Given the description of an element on the screen output the (x, y) to click on. 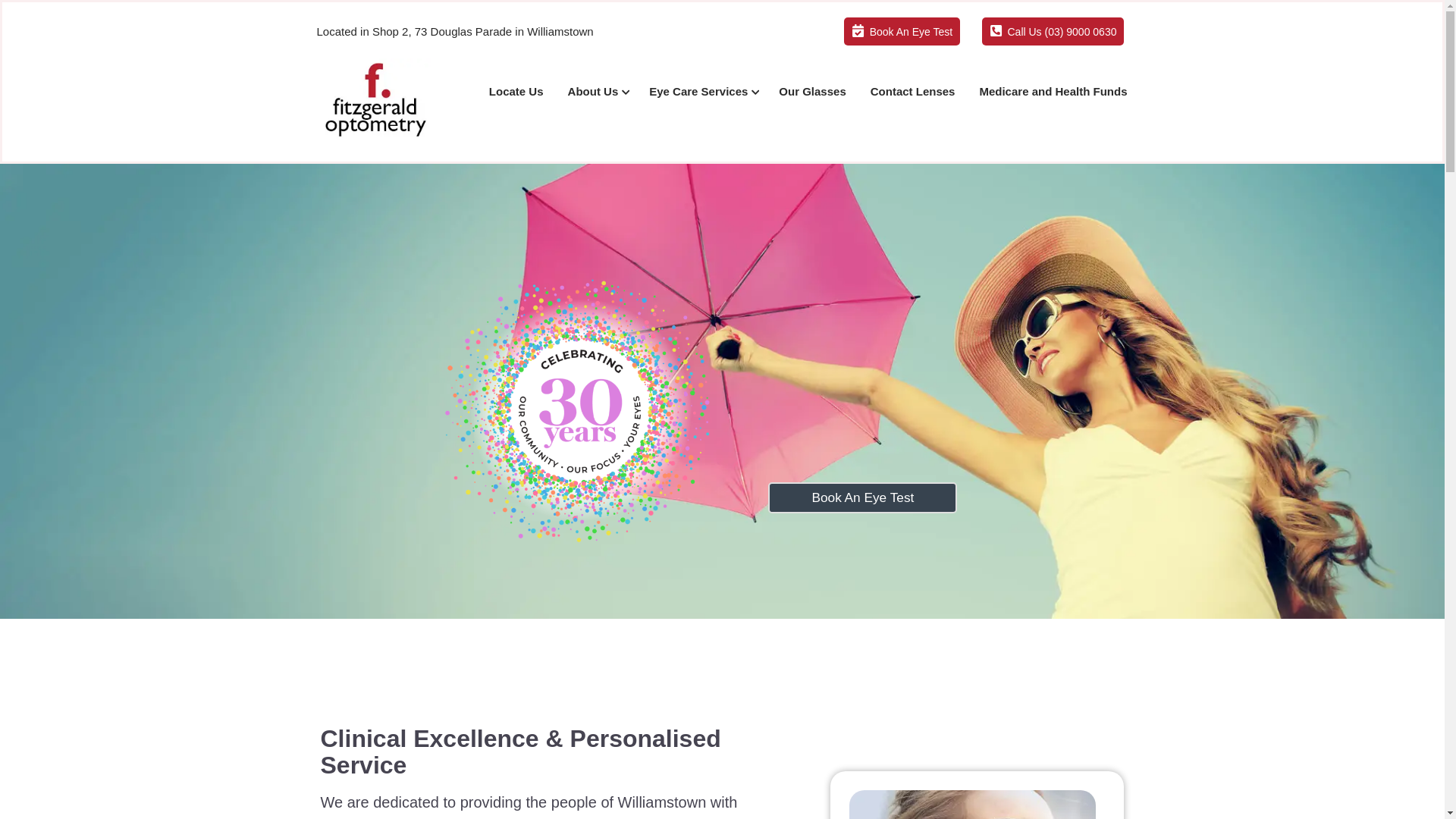
Our Glasses Element type: text (811, 91)
Contact Lenses Element type: text (912, 91)
Book An Eye Test Element type: text (862, 497)
Locate Us Element type: text (515, 91)
About Us Element type: text (596, 91)
Eye Care Services Element type: text (701, 91)
Medicare and Health Funds Element type: text (1052, 91)
Located in Shop 2, 73 Douglas Parade in Williamstown Element type: text (454, 32)
Call Us (03) 9000 0630 Element type: text (1052, 31)
Book An Eye Test Element type: text (902, 31)
